Given the description of an element on the screen output the (x, y) to click on. 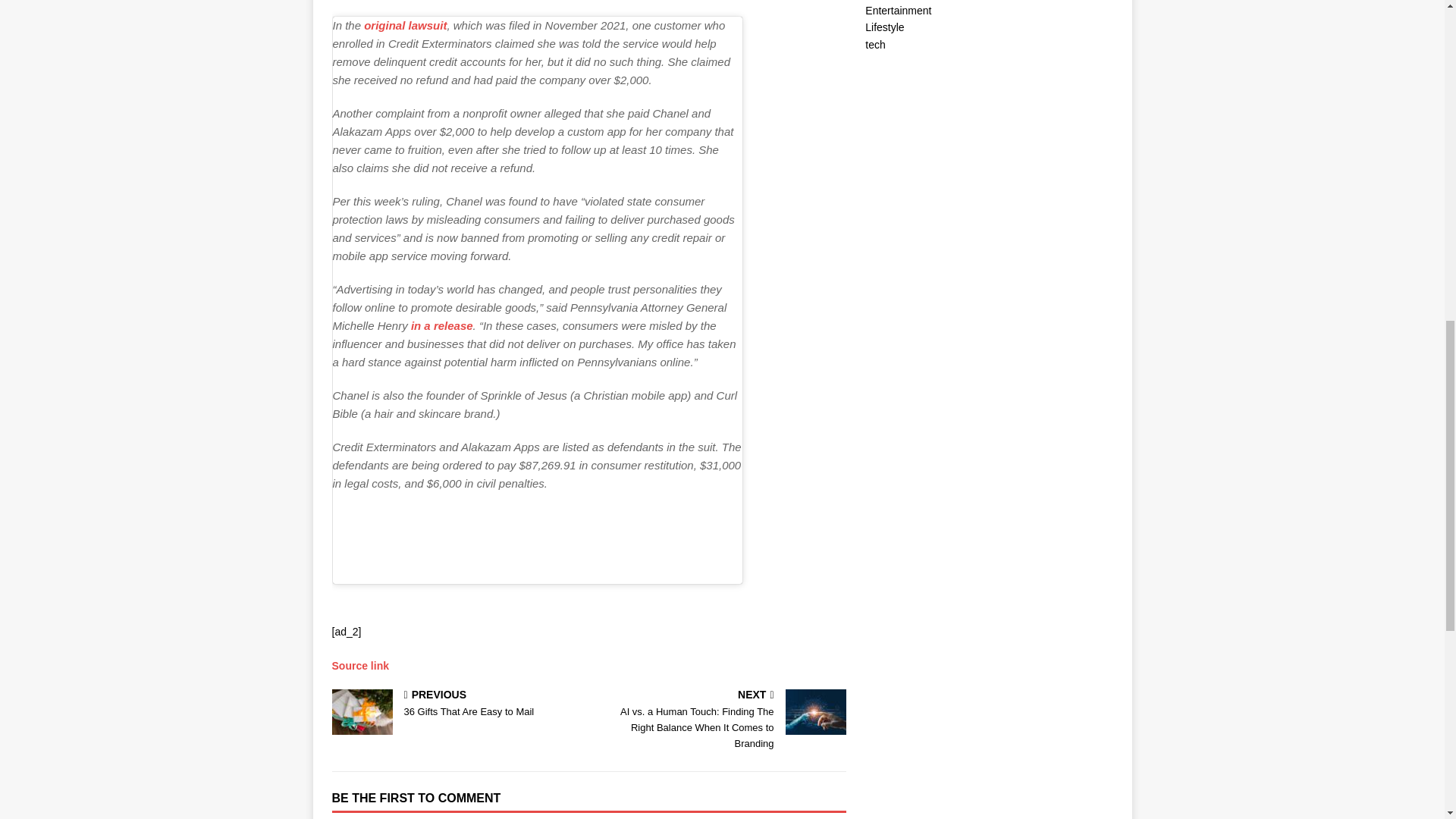
original lawsuit (405, 24)
in a release (457, 704)
Source link (441, 325)
